Given the description of an element on the screen output the (x, y) to click on. 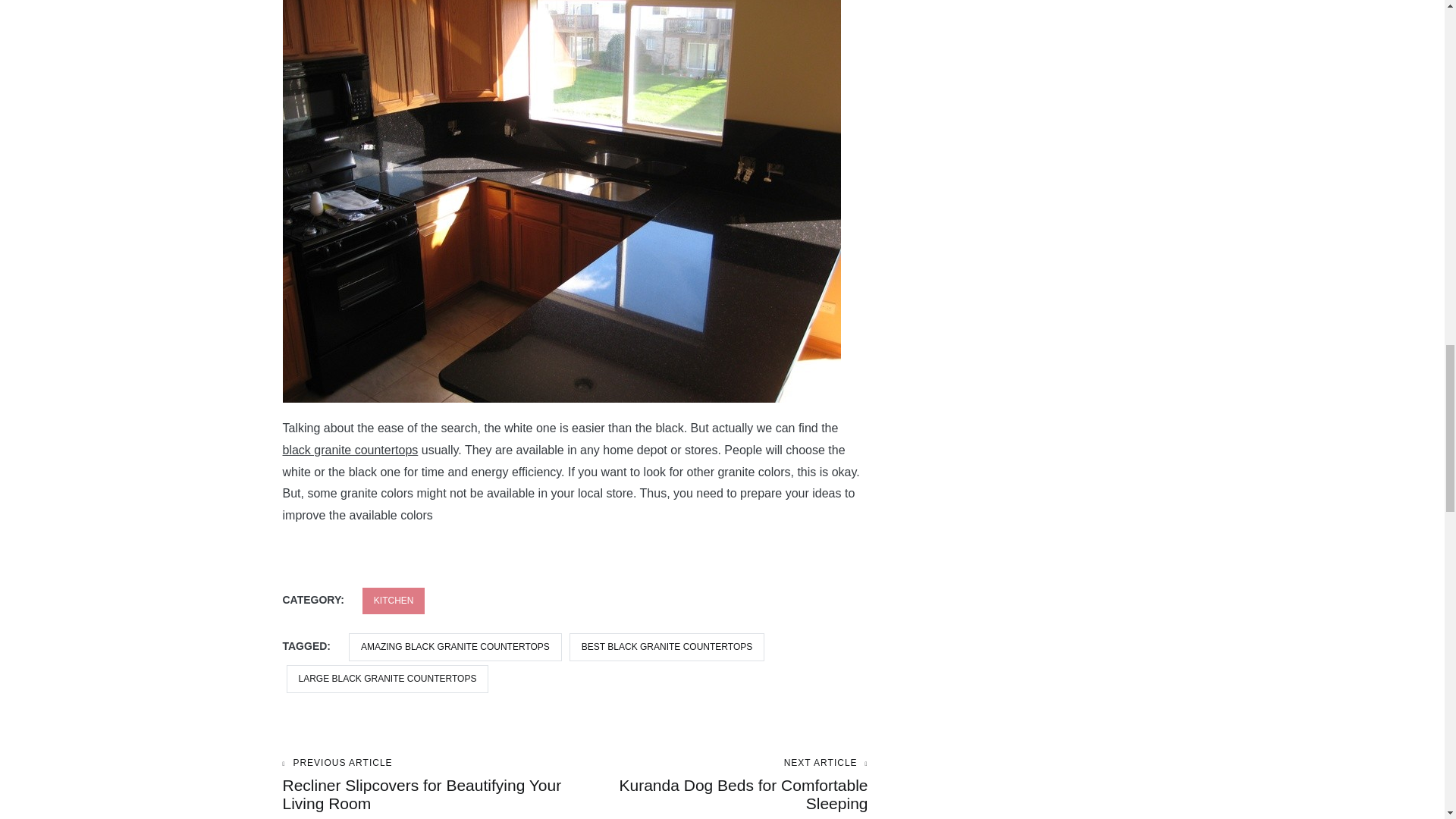
LARGE BLACK GRANITE COUNTERTOPS (387, 678)
KITCHEN (393, 601)
BEST BLACK GRANITE COUNTERTOPS (666, 646)
AMAZING BLACK GRANITE COUNTERTOPS (721, 785)
